Given the description of an element on the screen output the (x, y) to click on. 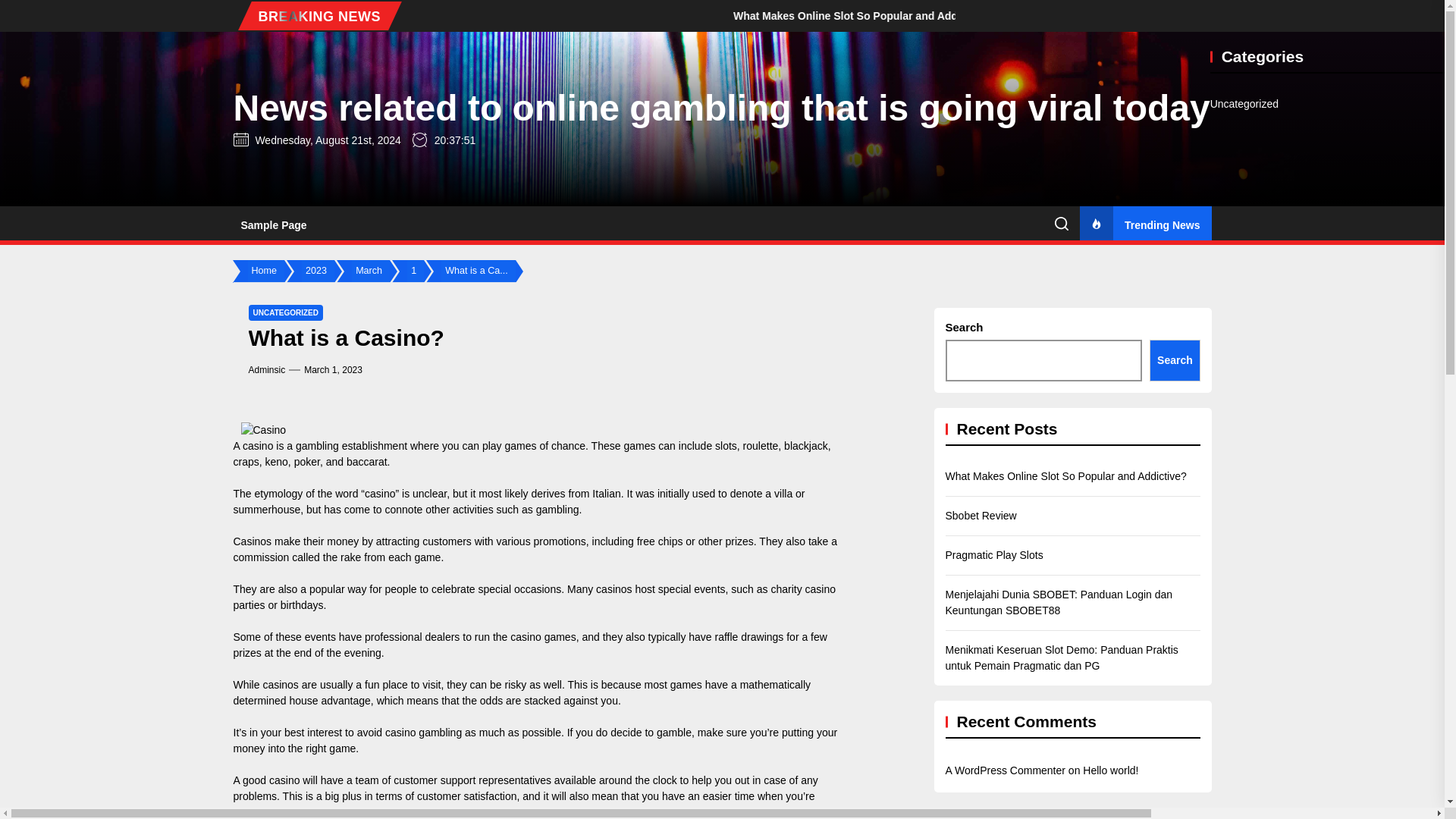
What Makes Online Slot So Popular and Addictive? (1014, 15)
Sample Page (273, 224)
Uncategorized (1243, 104)
News related to online gambling that is going viral today (720, 108)
What Makes Online Slot So Popular and Addictive? (1093, 15)
